Given the description of an element on the screen output the (x, y) to click on. 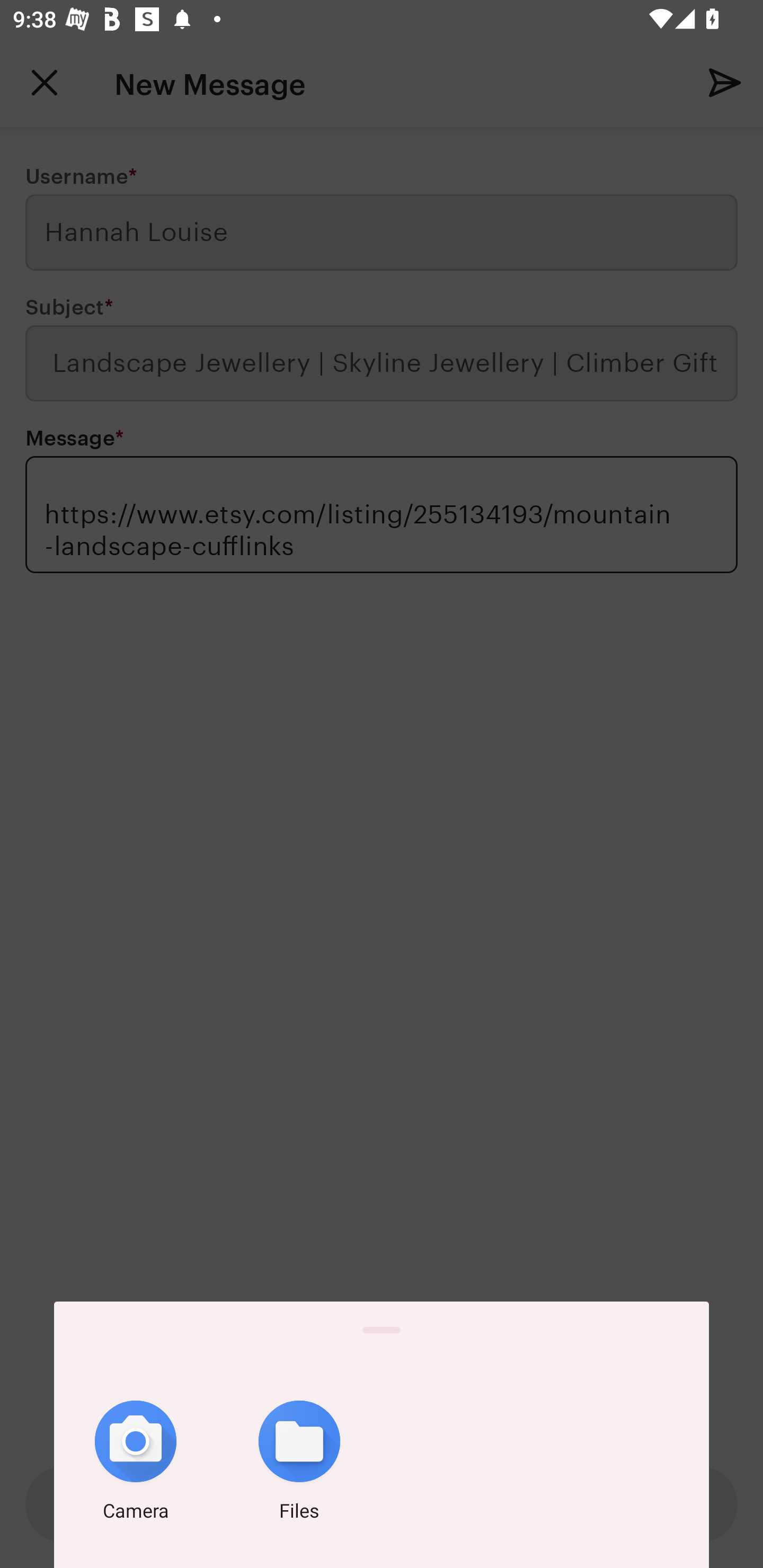
Camera (135, 1463)
Files (299, 1463)
